Given the description of an element on the screen output the (x, y) to click on. 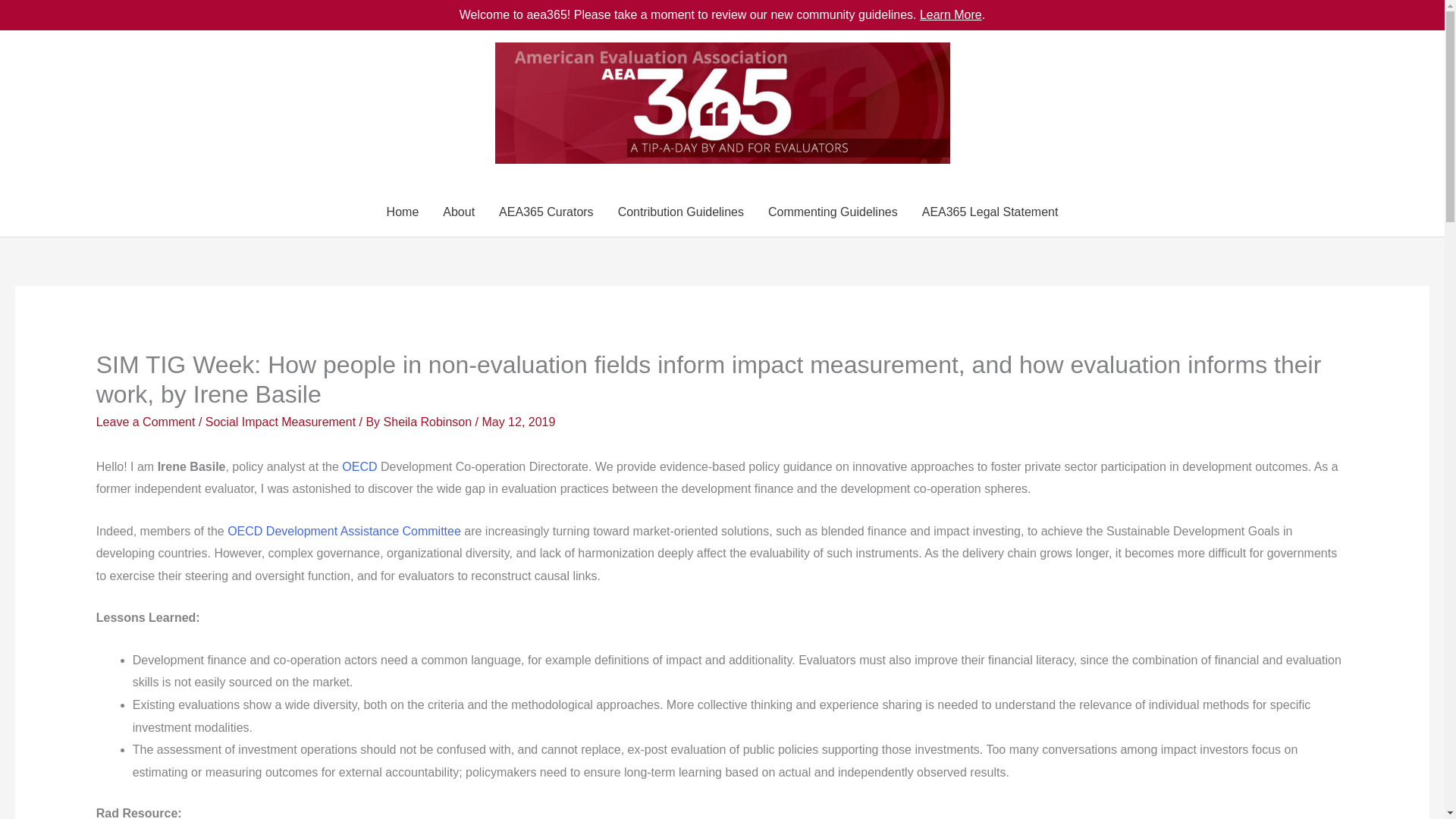
Social Impact Measurement (280, 421)
OECD Development Assistance Committee (344, 530)
View all posts by Sheila Robinson (430, 421)
OECD (359, 465)
Learn More (950, 14)
Contribution Guidelines (680, 212)
AEA365 Legal Statement (990, 212)
Sheila Robinson (430, 421)
AEA365 Curators (545, 212)
Home (402, 212)
About (458, 212)
Commenting Guidelines (832, 212)
Leave a Comment (145, 421)
